Given the description of an element on the screen output the (x, y) to click on. 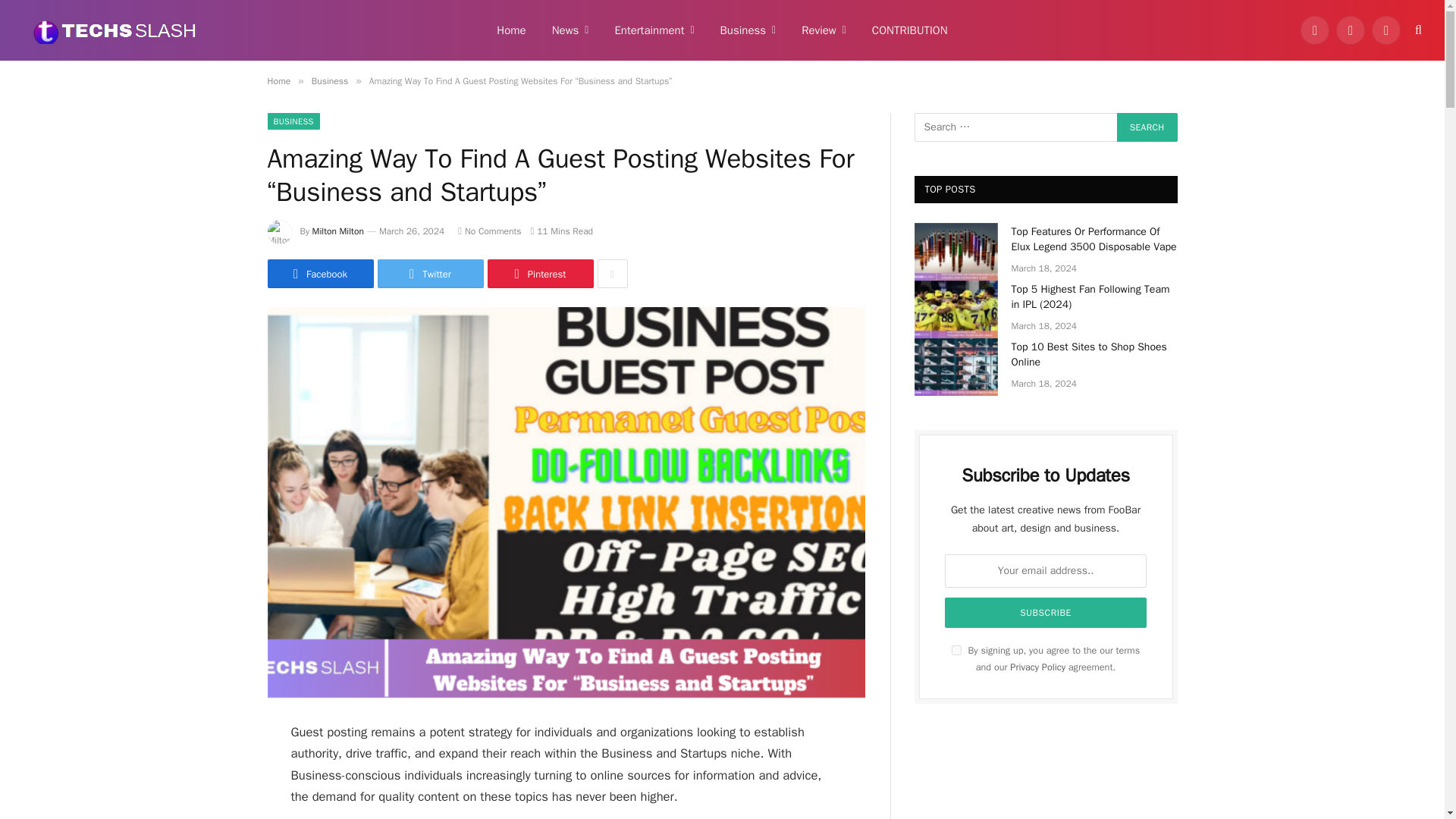
Search (1146, 127)
Search (1146, 127)
Subscribe (1045, 612)
Share on Pinterest (539, 273)
Facebook (1314, 30)
Home (510, 30)
Entertainment (653, 30)
Review (824, 30)
News (570, 30)
Techs Slash (114, 30)
CONTRIBUTION (909, 30)
on (956, 650)
Business (748, 30)
Posts by Milton Milton (338, 231)
Instagram (1385, 30)
